Given the description of an element on the screen output the (x, y) to click on. 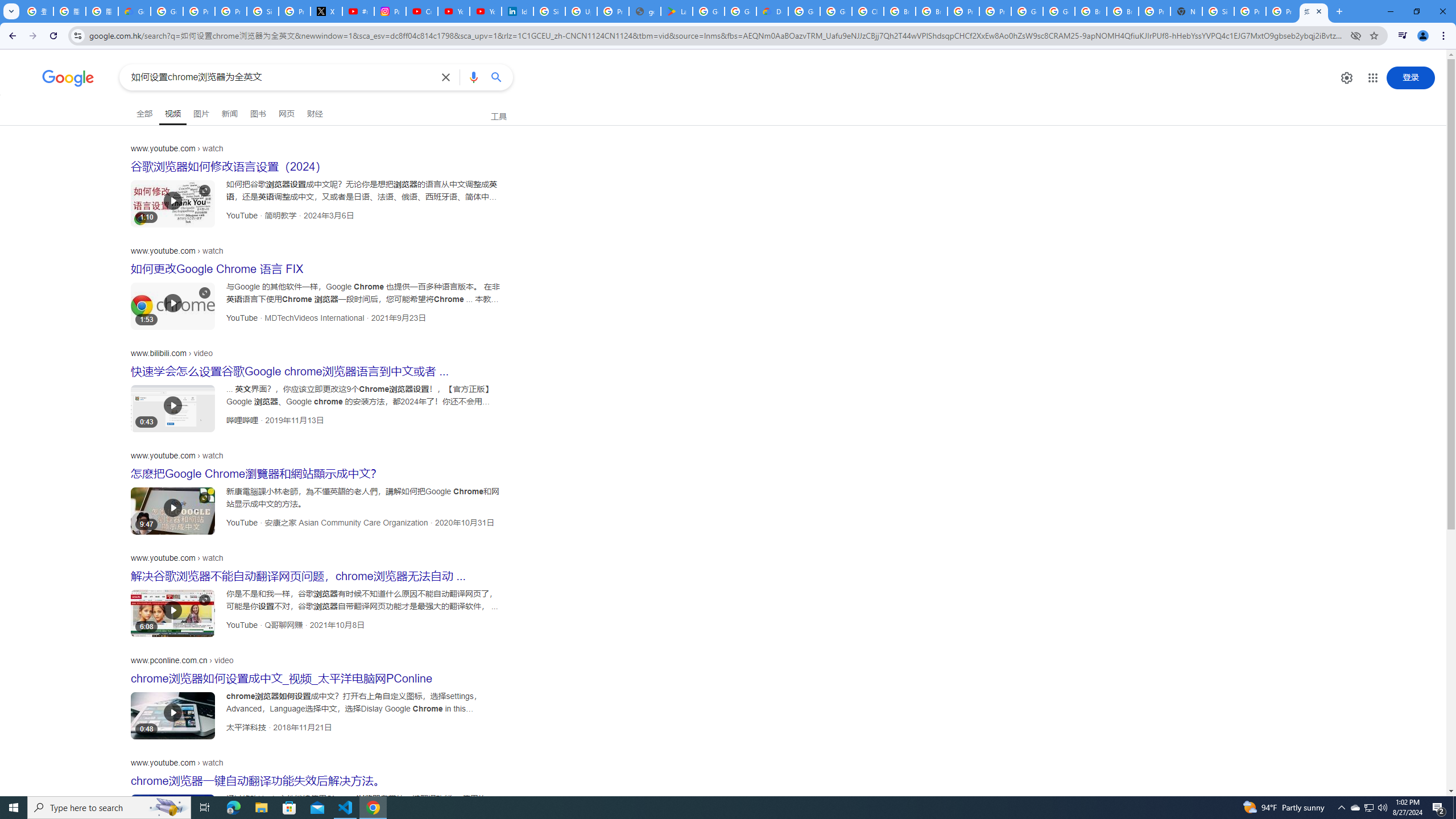
Privacy Help Center - Policies Help (230, 11)
